Given the description of an element on the screen output the (x, y) to click on. 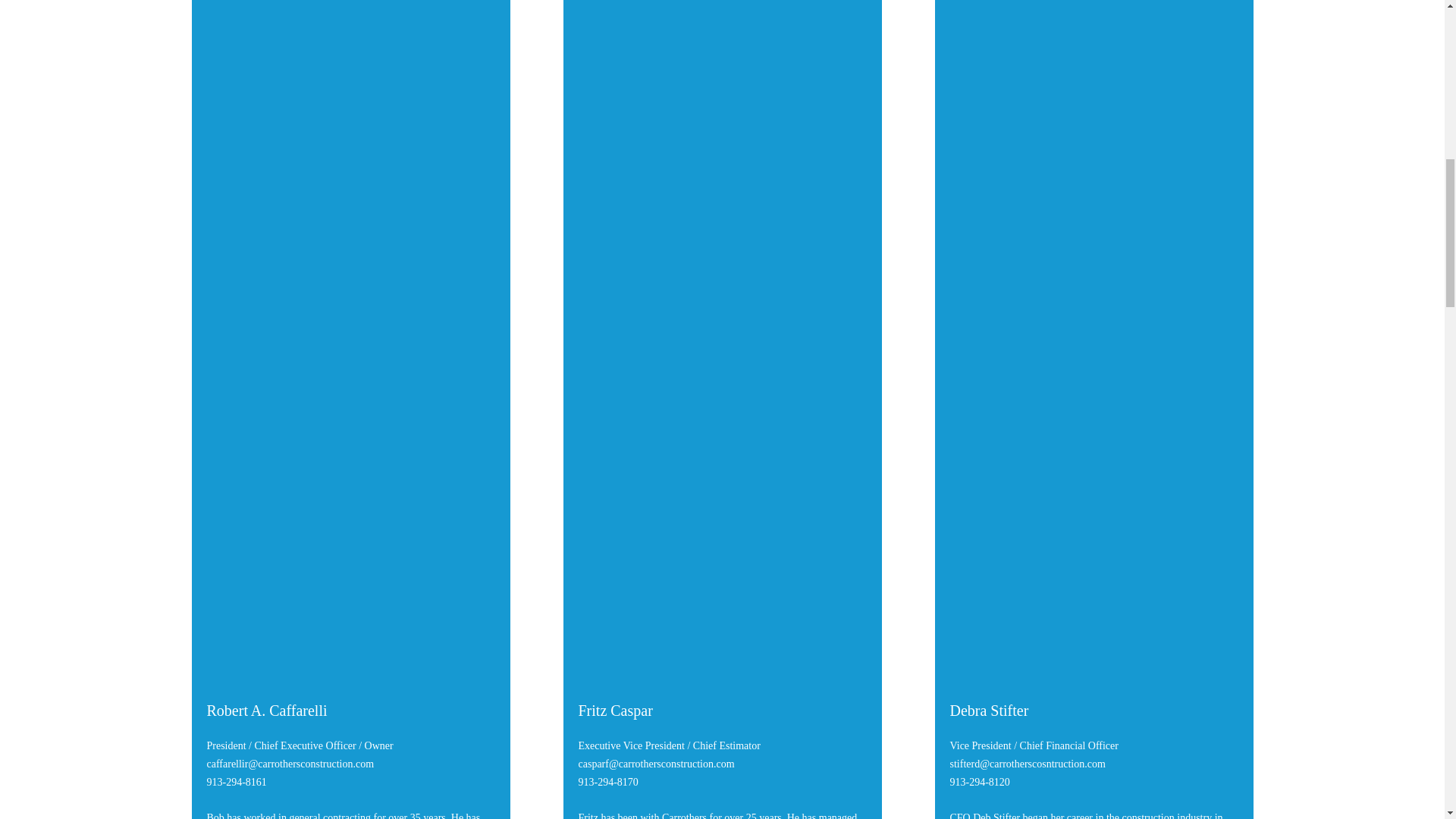
913-294-8161 (236, 781)
913-294-8120 (979, 781)
913-294-8170 (607, 781)
